Given the description of an element on the screen output the (x, y) to click on. 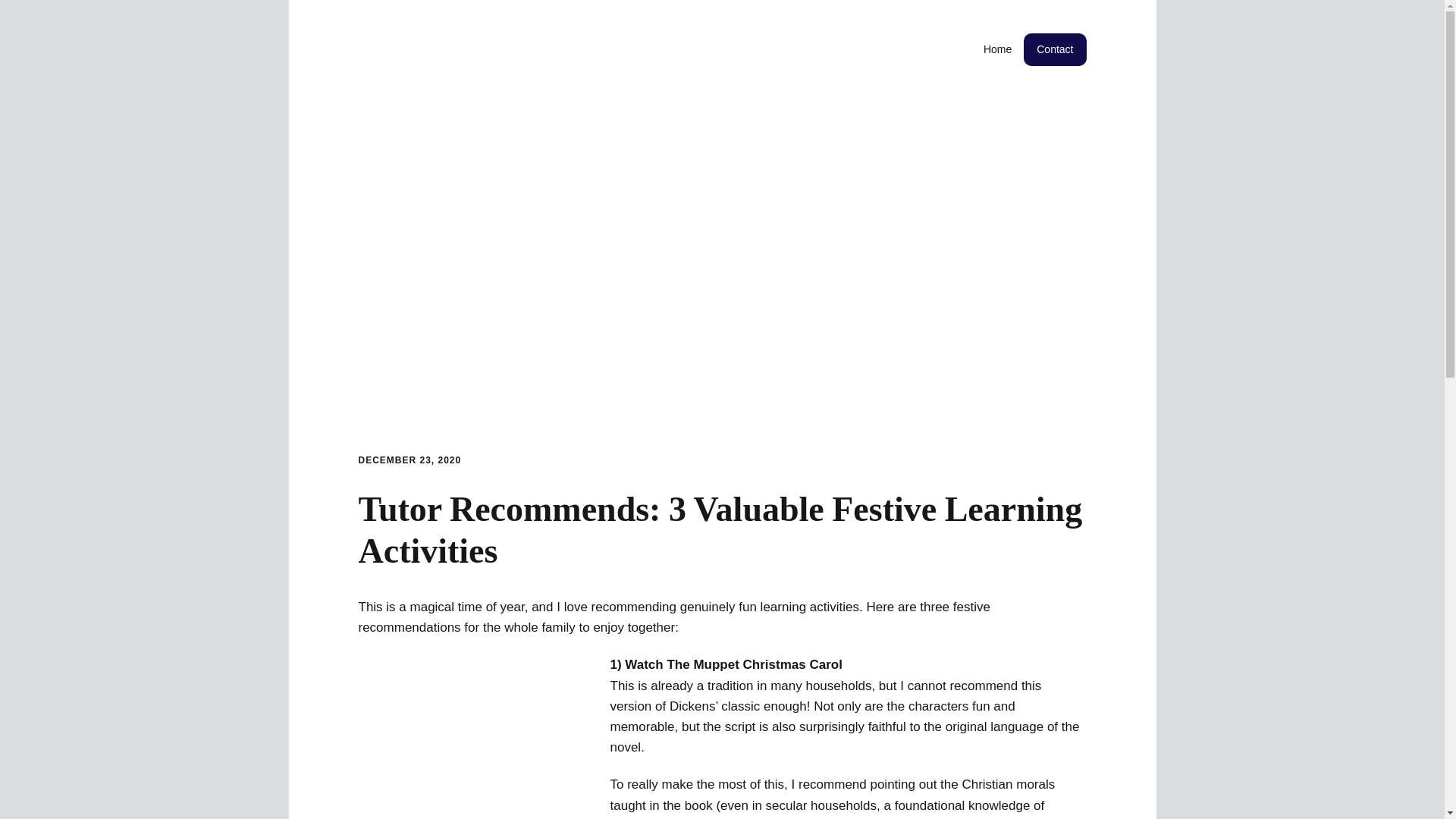
online tuition (997, 50)
Home (997, 50)
contact (1054, 49)
Contact (1054, 49)
